Given the description of an element on the screen output the (x, y) to click on. 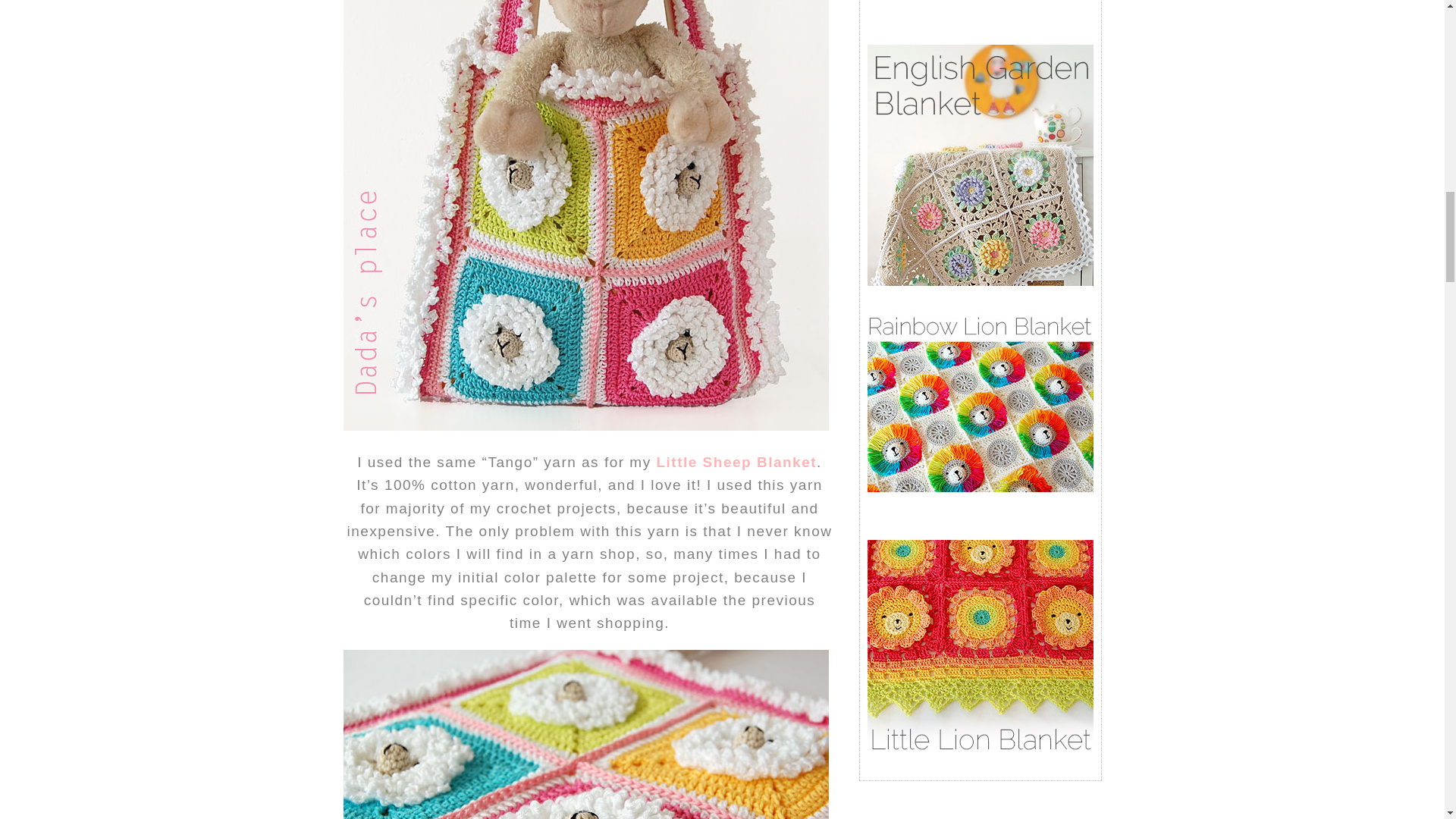
Little Sheep Crochet Tote Bag  (585, 734)
Little Sheep Blanket (736, 462)
